Given the description of an element on the screen output the (x, y) to click on. 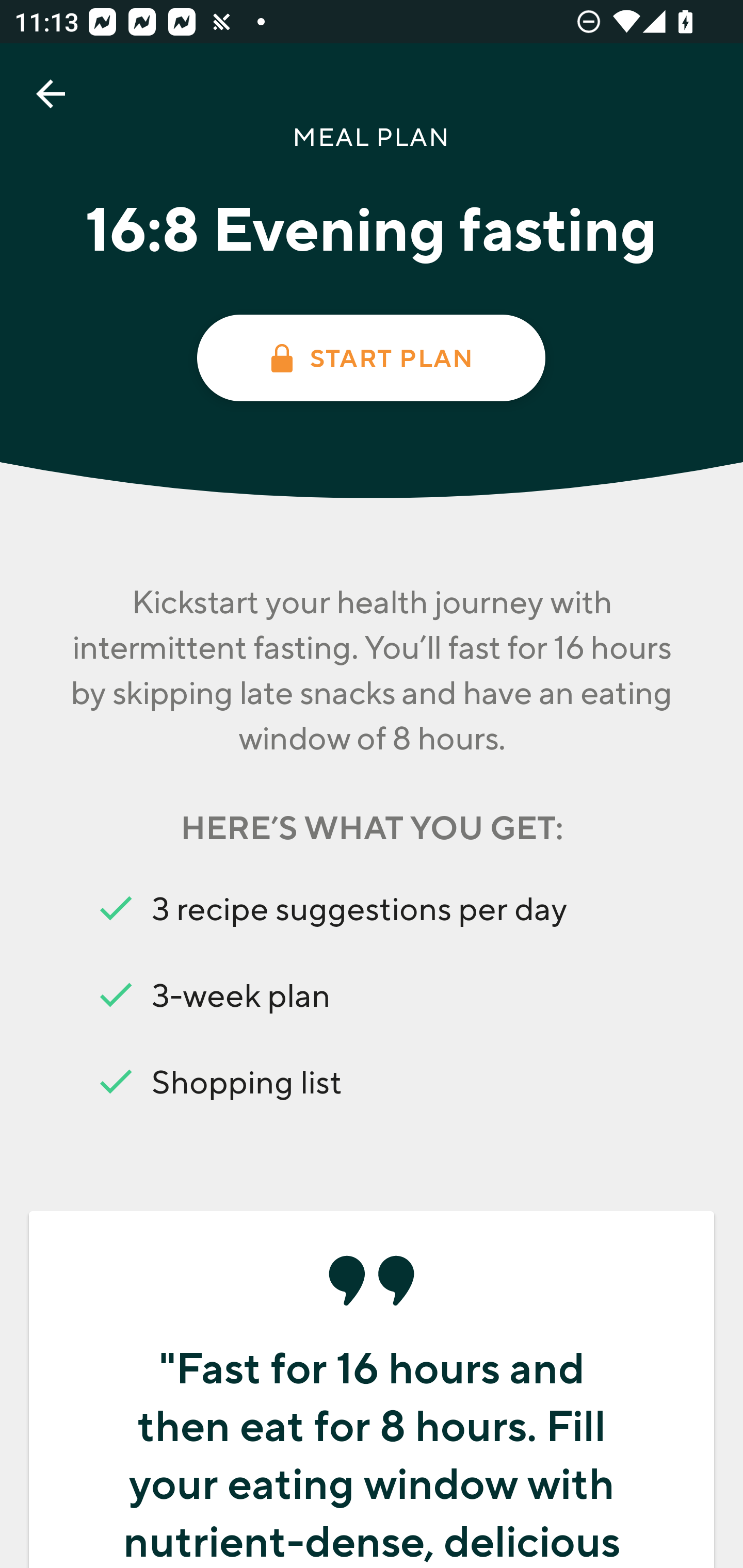
Navigate up (50, 93)
START PLAN (370, 358)
